Given the description of an element on the screen output the (x, y) to click on. 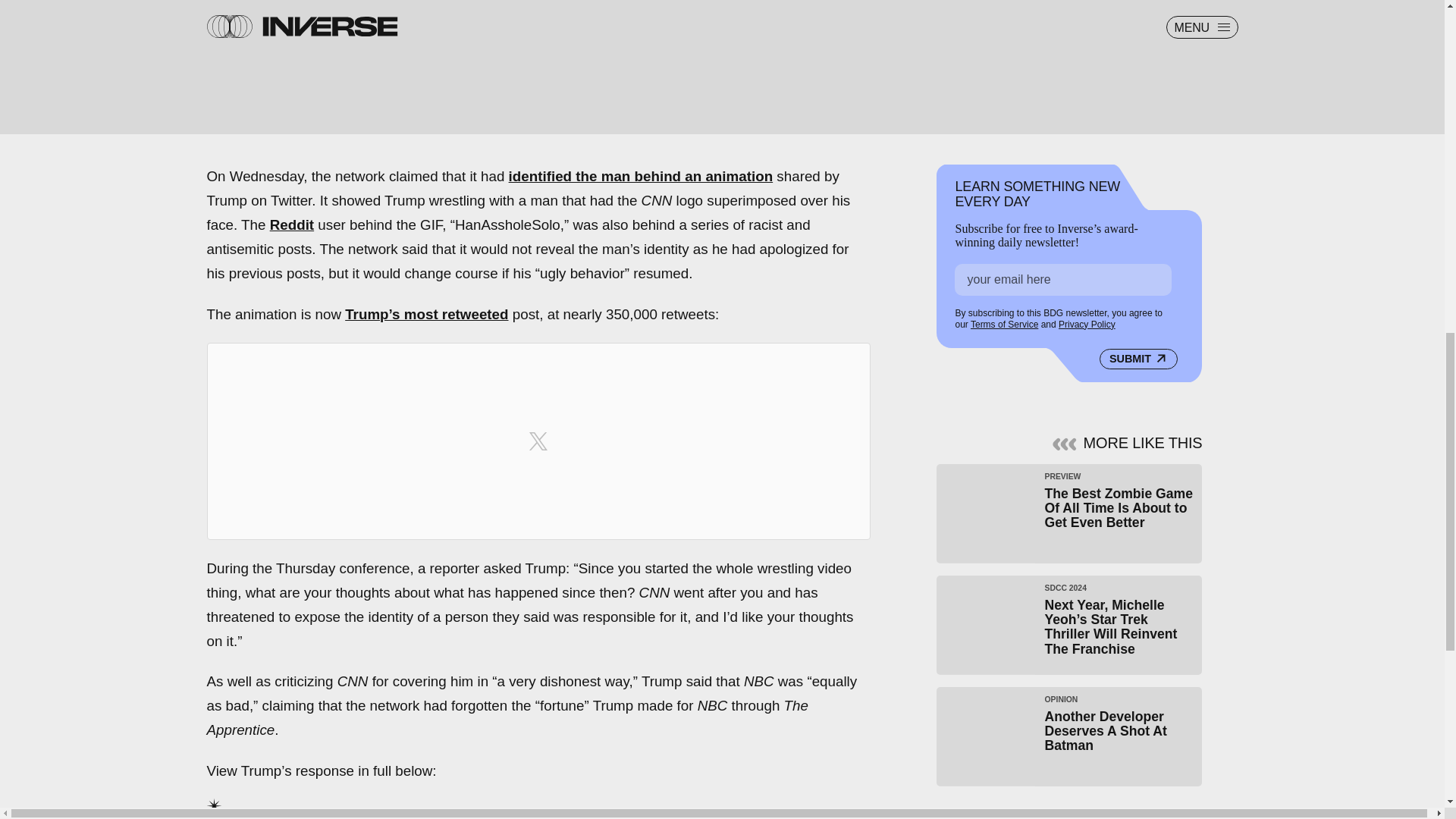
Terms of Service (1004, 324)
Reddit (291, 224)
SUBMIT (1138, 359)
identified the man behind an animation (640, 176)
Privacy Policy (1086, 324)
